Given the description of an element on the screen output the (x, y) to click on. 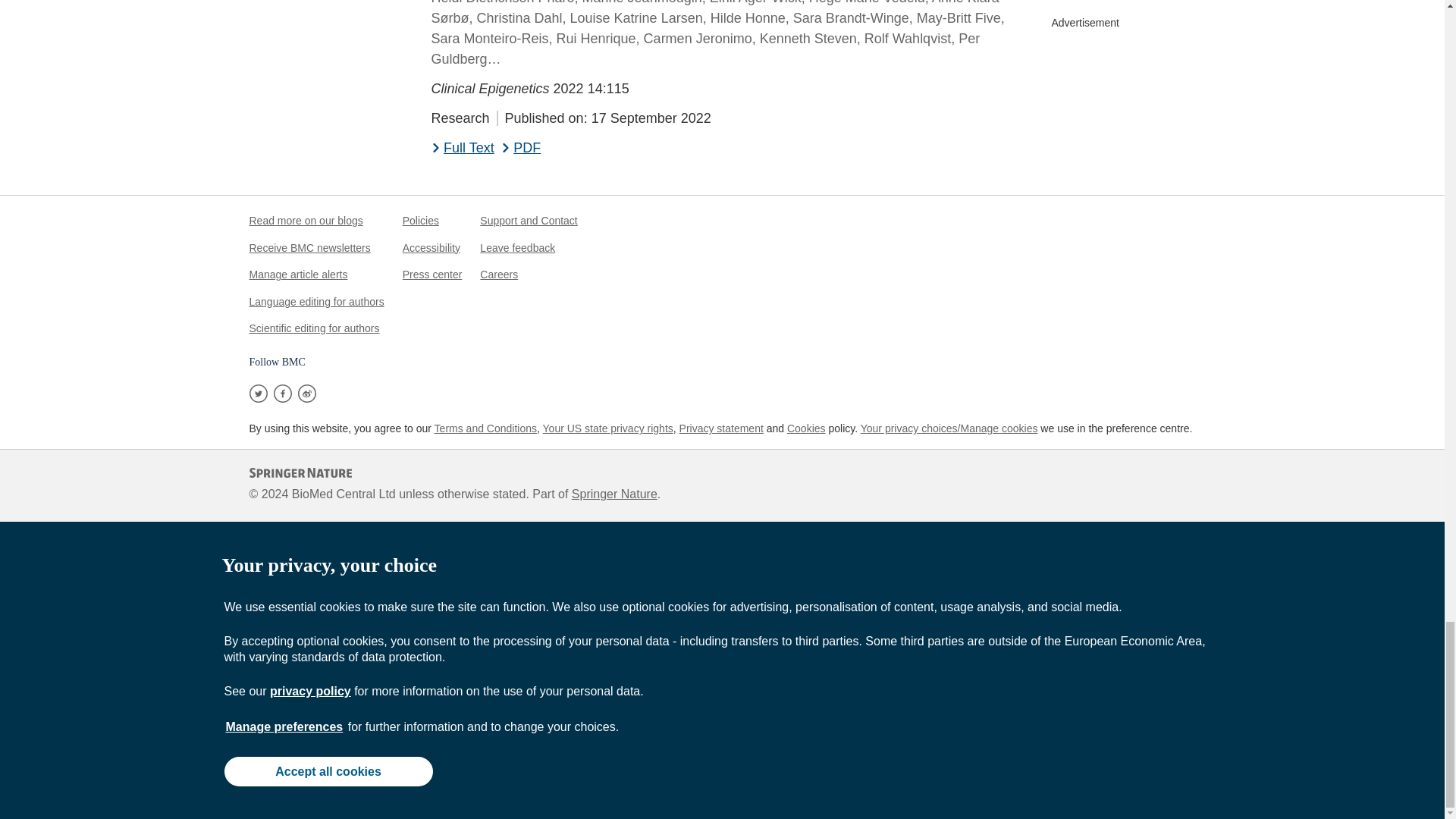
Read more on our blogs (305, 220)
Manage article alerts (297, 274)
PDF (520, 148)
Receive BMC newsletters (308, 247)
Scientific editing for authors (313, 328)
Full Text (461, 148)
Language editing for authors (316, 301)
